Given the description of an element on the screen output the (x, y) to click on. 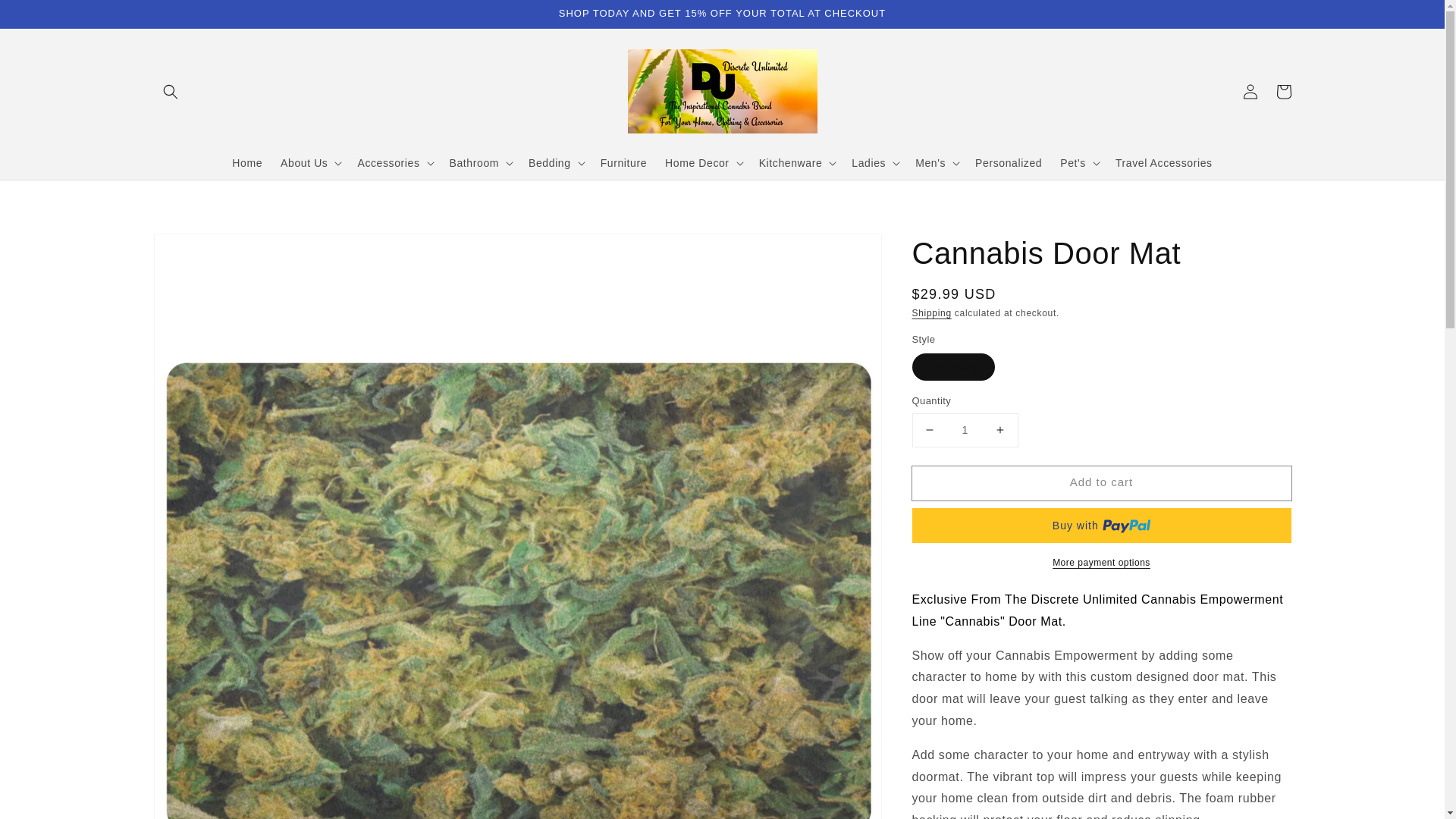
Skip to content (45, 16)
1 (964, 430)
